Given the description of an element on the screen output the (x, y) to click on. 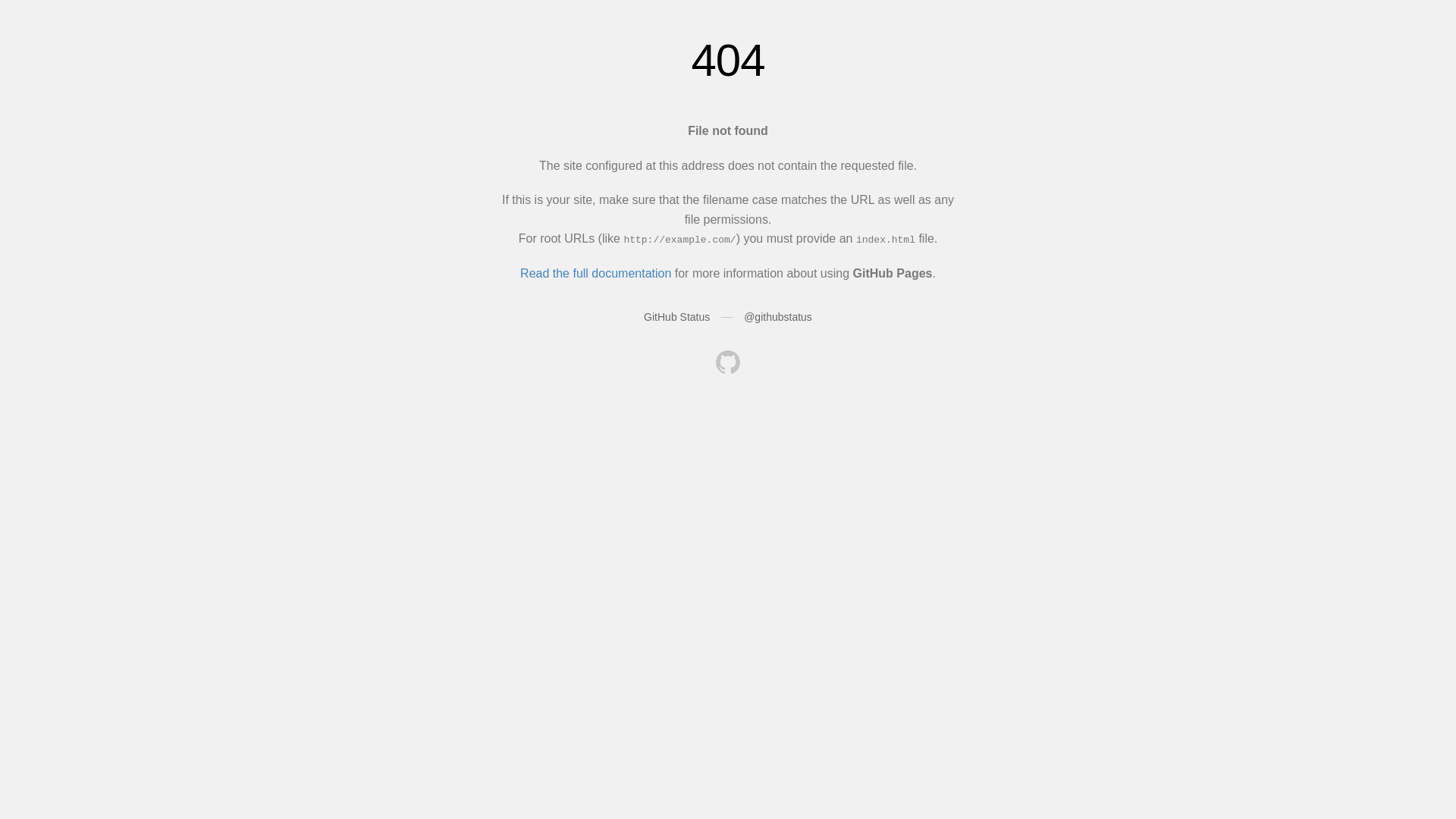
Read the full documentation Element type: text (595, 272)
GitHub Status Element type: text (676, 316)
@githubstatus Element type: text (777, 316)
